Given the description of an element on the screen output the (x, y) to click on. 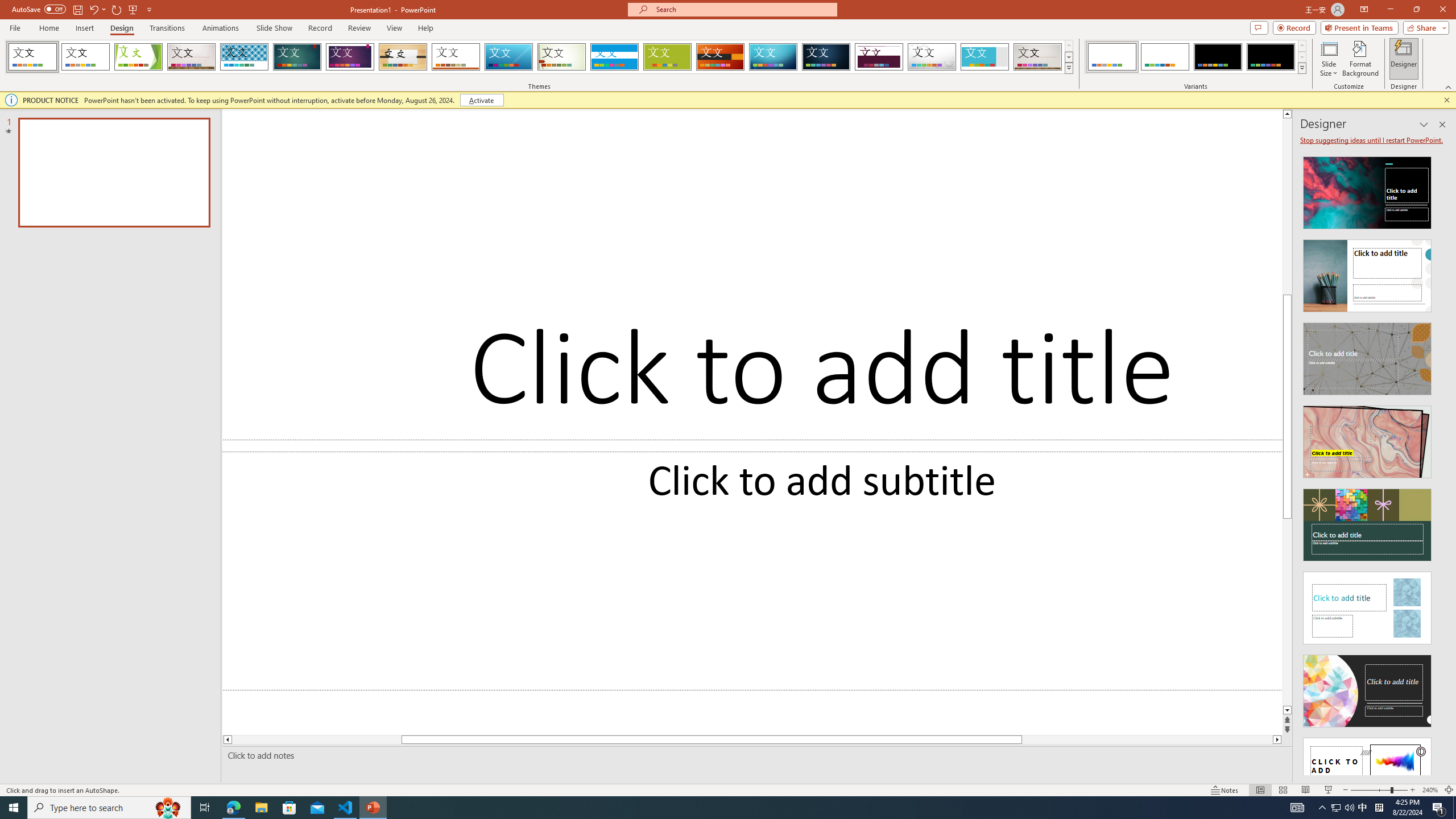
Gallery (1037, 56)
Retrospect (455, 56)
Activate (481, 100)
Ion Boardroom (350, 56)
Basis (667, 56)
Close this message (1446, 99)
Zoom 240% (1430, 790)
